Given the description of an element on the screen output the (x, y) to click on. 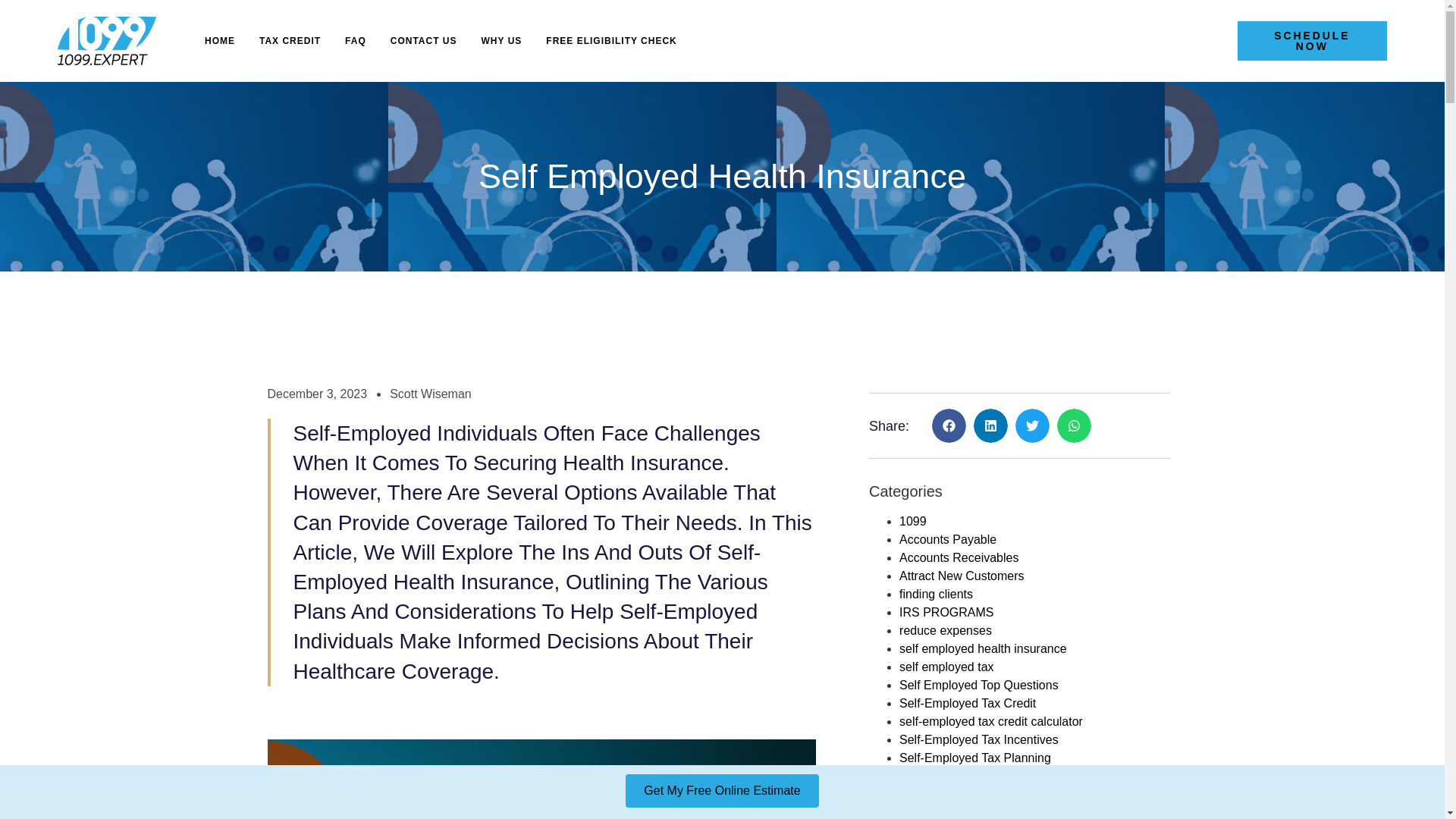
self-employed tax credit calculator (991, 721)
TAX CREDIT (289, 40)
CONTACT US (423, 40)
HOME (219, 40)
self employed health insurance (983, 648)
FREE ELIGIBILITY CHECK (611, 40)
self employed tax (946, 666)
SCHEDULE NOW (1312, 40)
WHY US (501, 40)
Accounts Payable (947, 539)
